Given the description of an element on the screen output the (x, y) to click on. 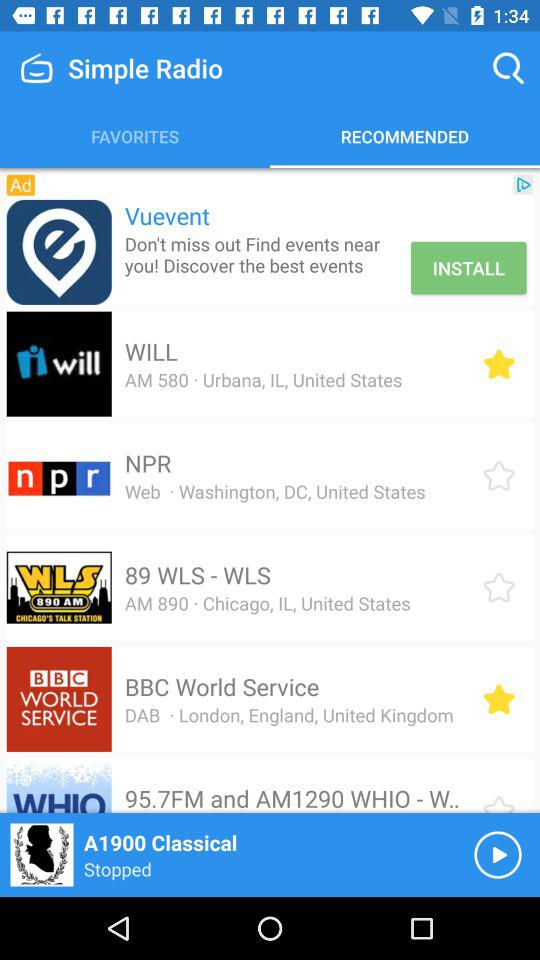
press the icon below don t miss icon (150, 351)
